Given the description of an element on the screen output the (x, y) to click on. 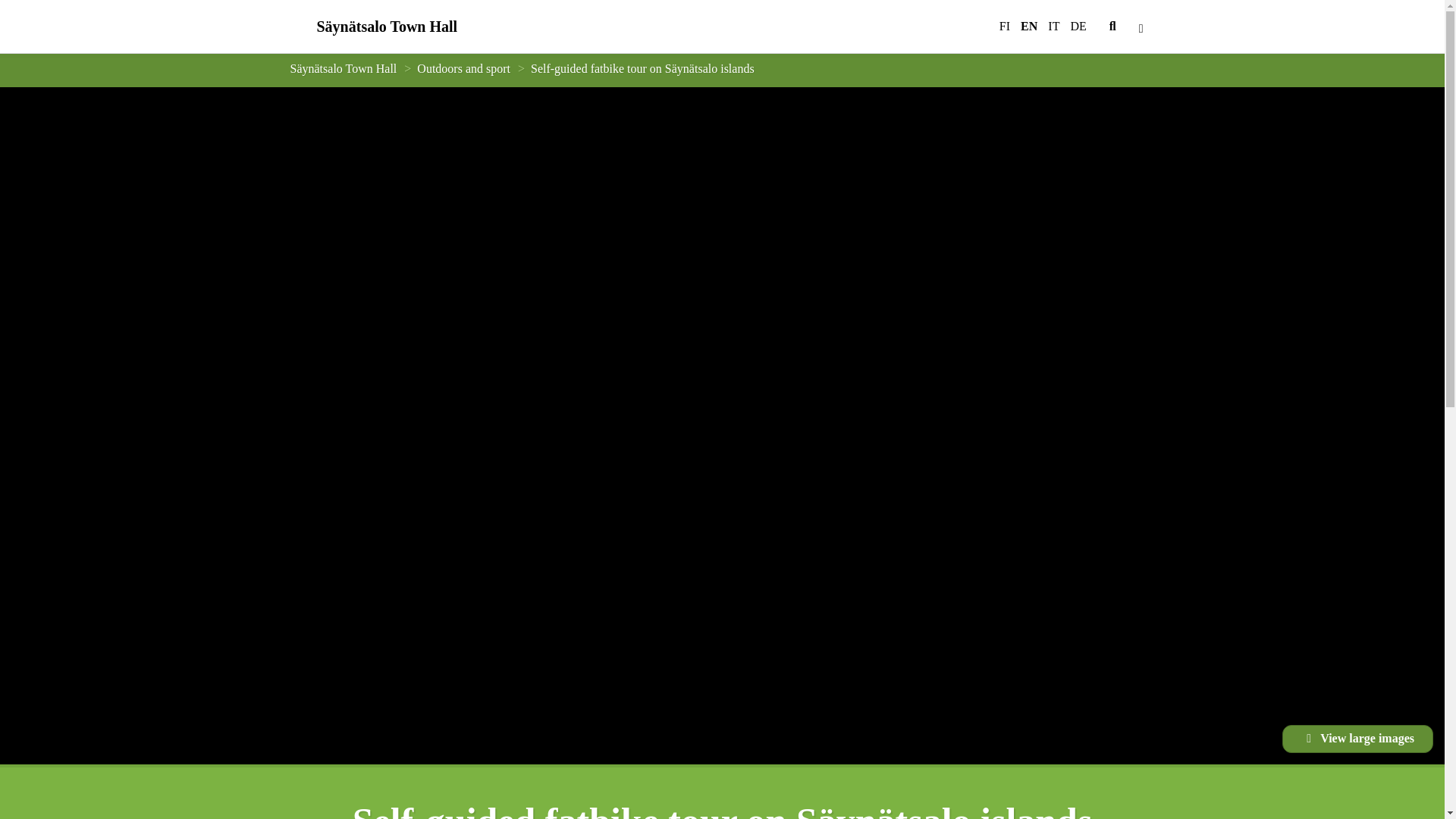
DE (1080, 26)
View large images (1357, 738)
Menu (1140, 26)
Outdoors and sport (463, 68)
EN (1028, 26)
IT (1053, 26)
FI (1001, 26)
Hae (1111, 26)
